Given the description of an element on the screen output the (x, y) to click on. 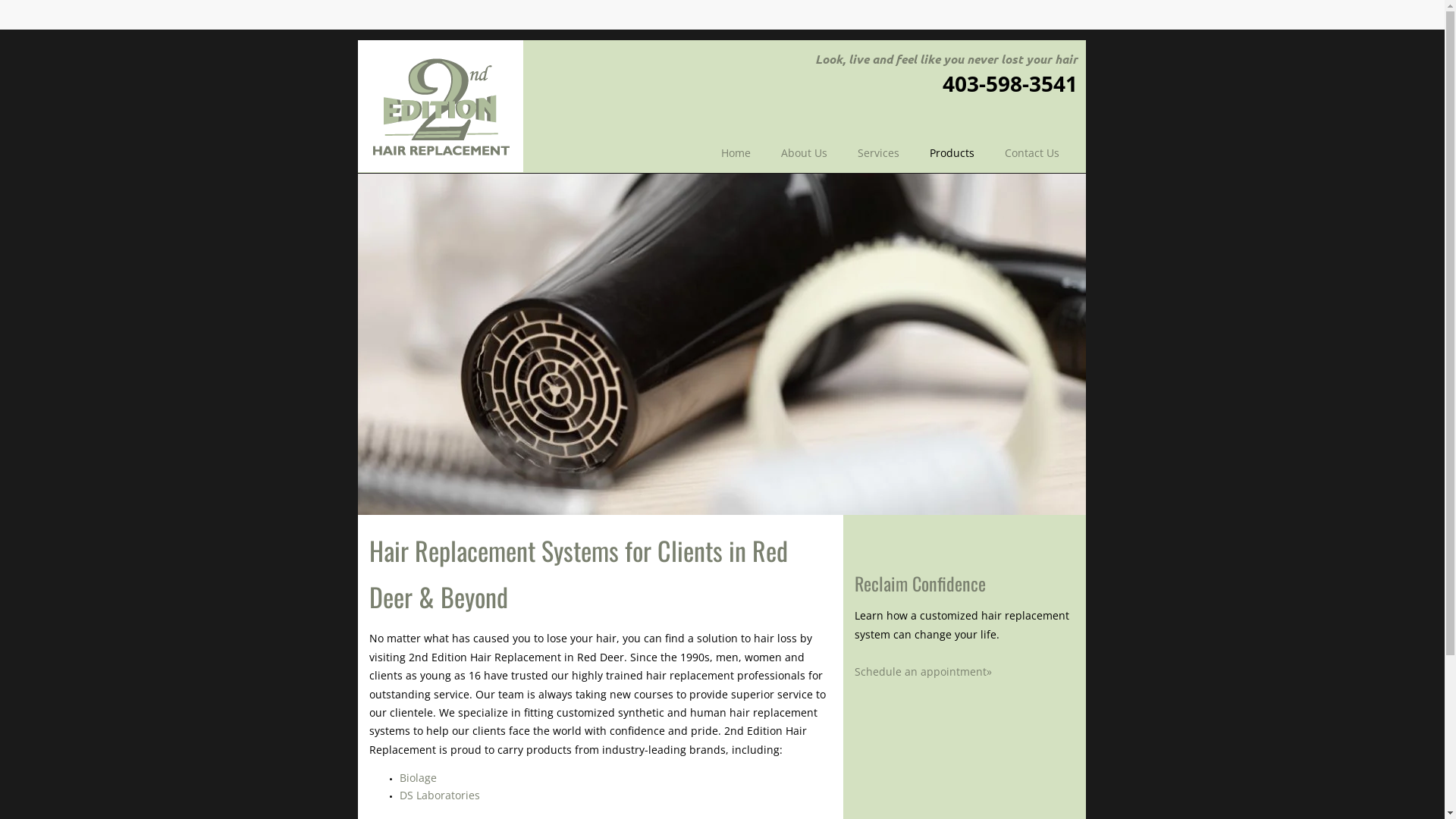
Home Element type: text (735, 153)
Products Element type: text (951, 153)
About Us Element type: text (803, 153)
Biolage Element type: text (417, 777)
DS Laboratories Element type: text (438, 794)
403-598-3541 Element type: text (1008, 83)
Services Element type: text (878, 153)
Contact Us Element type: text (1031, 153)
